Given the description of an element on the screen output the (x, y) to click on. 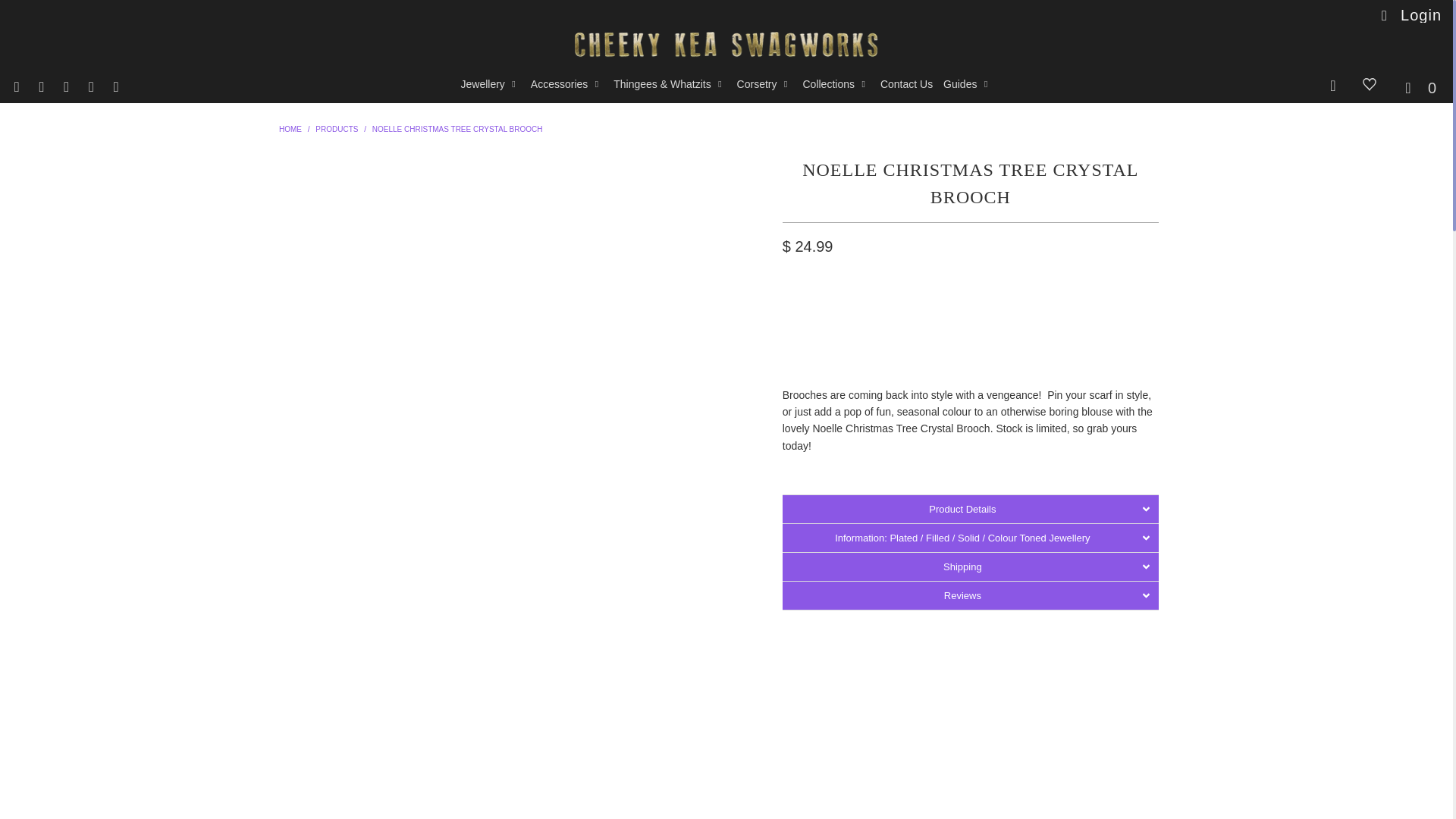
CK Swagworks on Tumblr (65, 87)
CK Swagworks (290, 129)
CK Swagworks on Instagram (90, 87)
Products (336, 129)
CK Swagworks on Facebook (40, 87)
CK Swagworks on Twitter (15, 87)
Email CK Swagworks (114, 87)
My Account  (1410, 15)
